Given the description of an element on the screen output the (x, y) to click on. 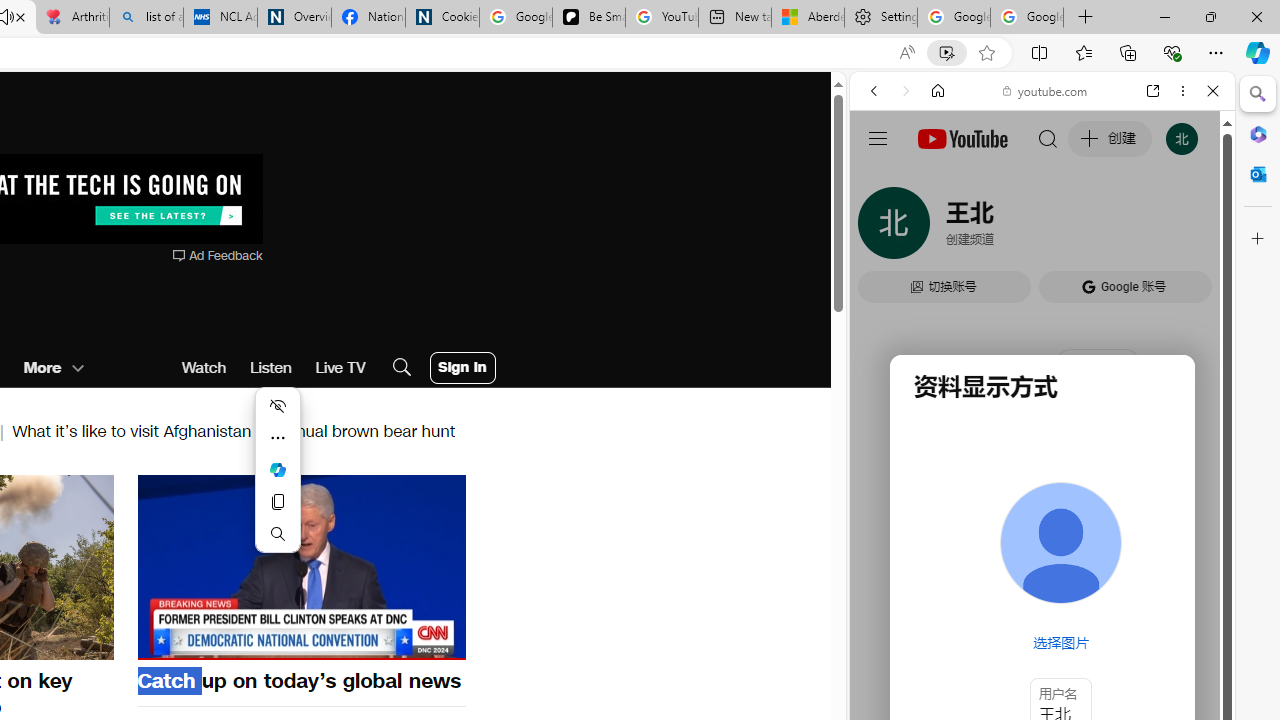
Show More Music (1164, 546)
Forward 10 seconds (361, 566)
Search Icon (401, 367)
